Given the description of an element on the screen output the (x, y) to click on. 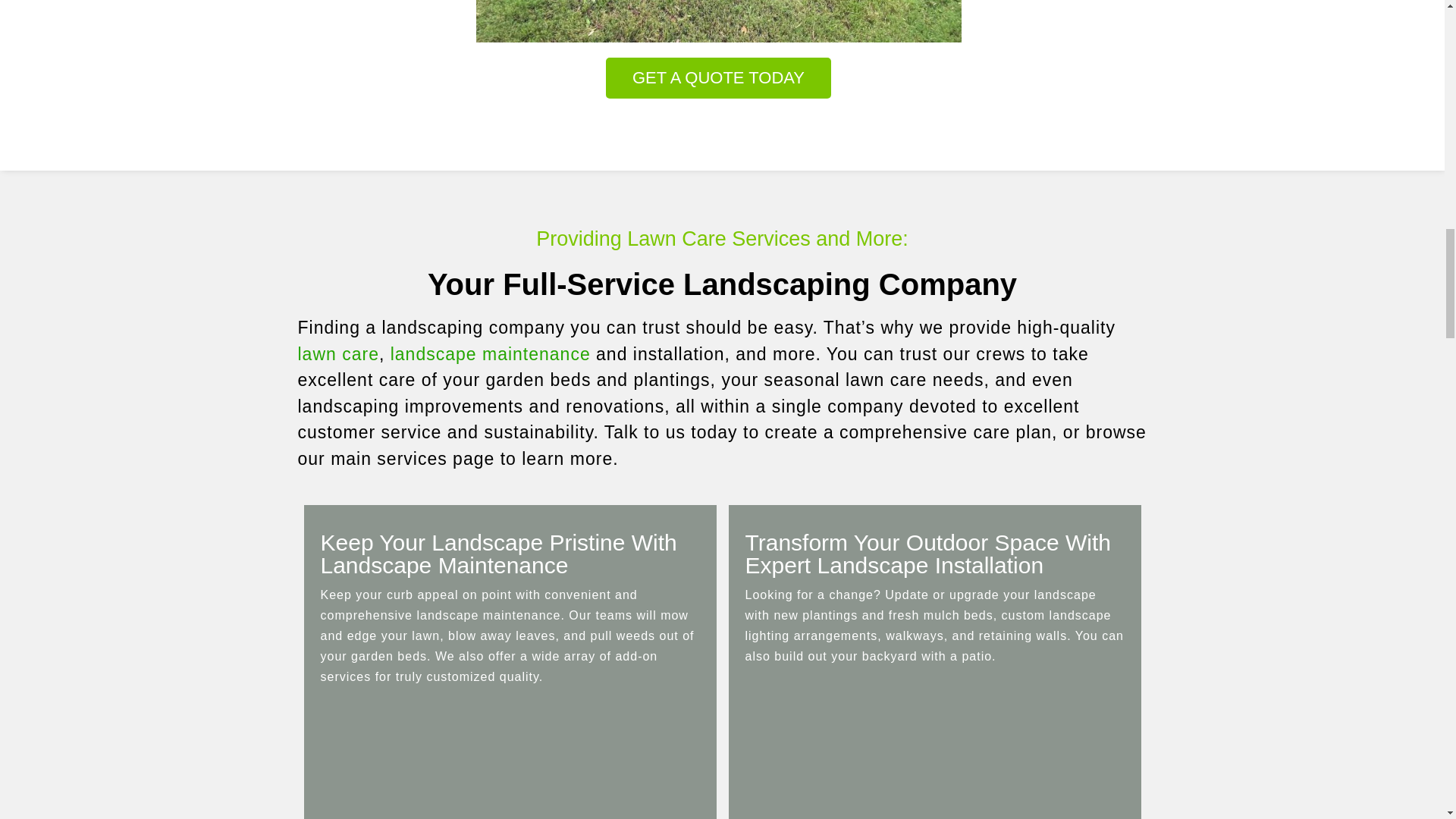
landscape maintenance (490, 353)
GET A QUOTE TODAY (718, 77)
lawn care (337, 353)
